Given the description of an element on the screen output the (x, y) to click on. 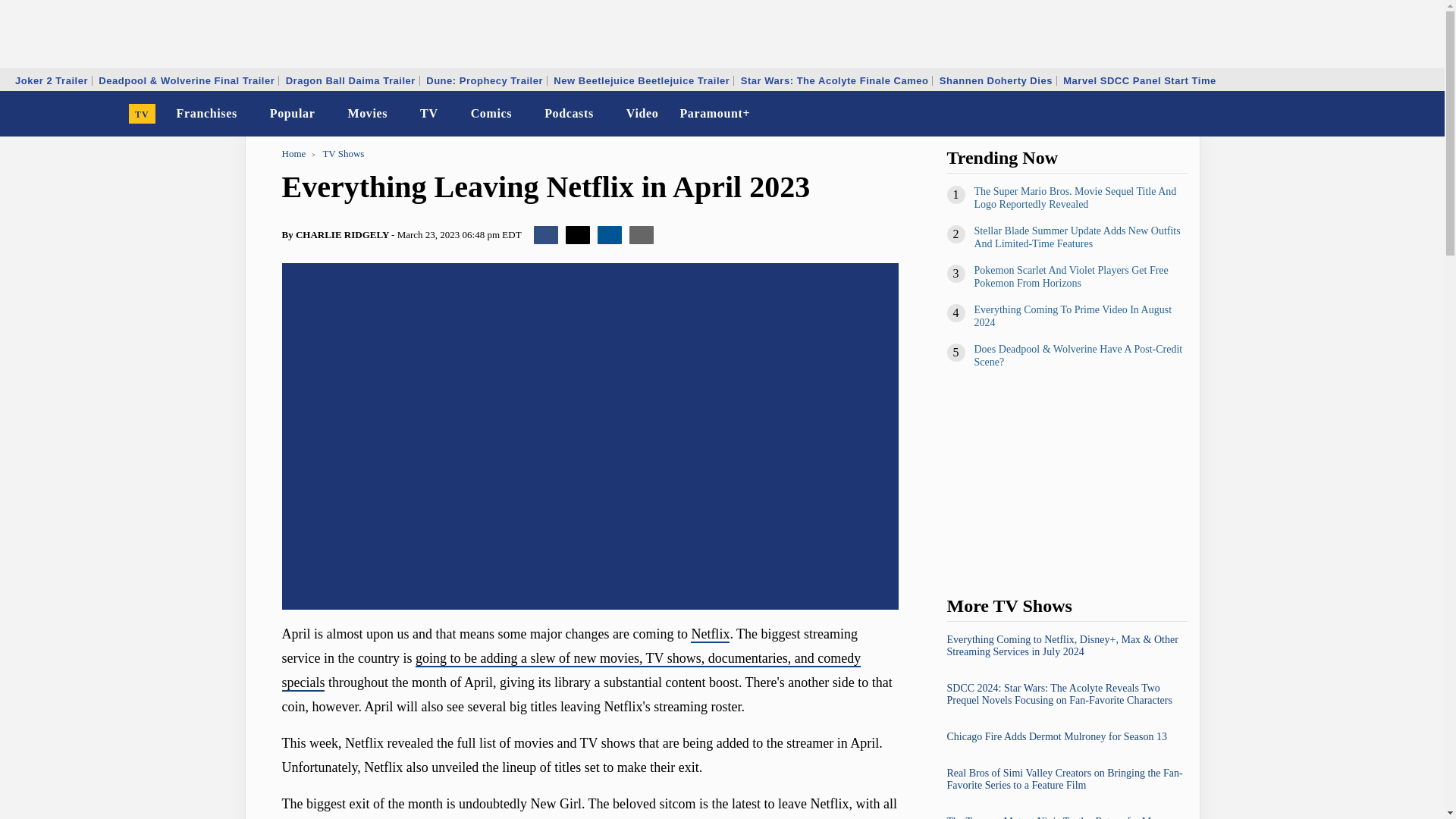
Joker 2 Trailer (51, 80)
Marvel SDCC Panel Start Time (1139, 80)
New Beetlejuice Beetlejuice Trailer (641, 80)
Search (1422, 114)
Dragon Ball Daima Trailer (350, 80)
Popular (292, 113)
Shannen Doherty Dies (996, 80)
Dark Mode (1394, 113)
Star Wars: The Acolyte Finale Cameo (834, 80)
Movies (366, 113)
TV (142, 113)
Dune: Prophecy Trailer (484, 80)
